Given the description of an element on the screen output the (x, y) to click on. 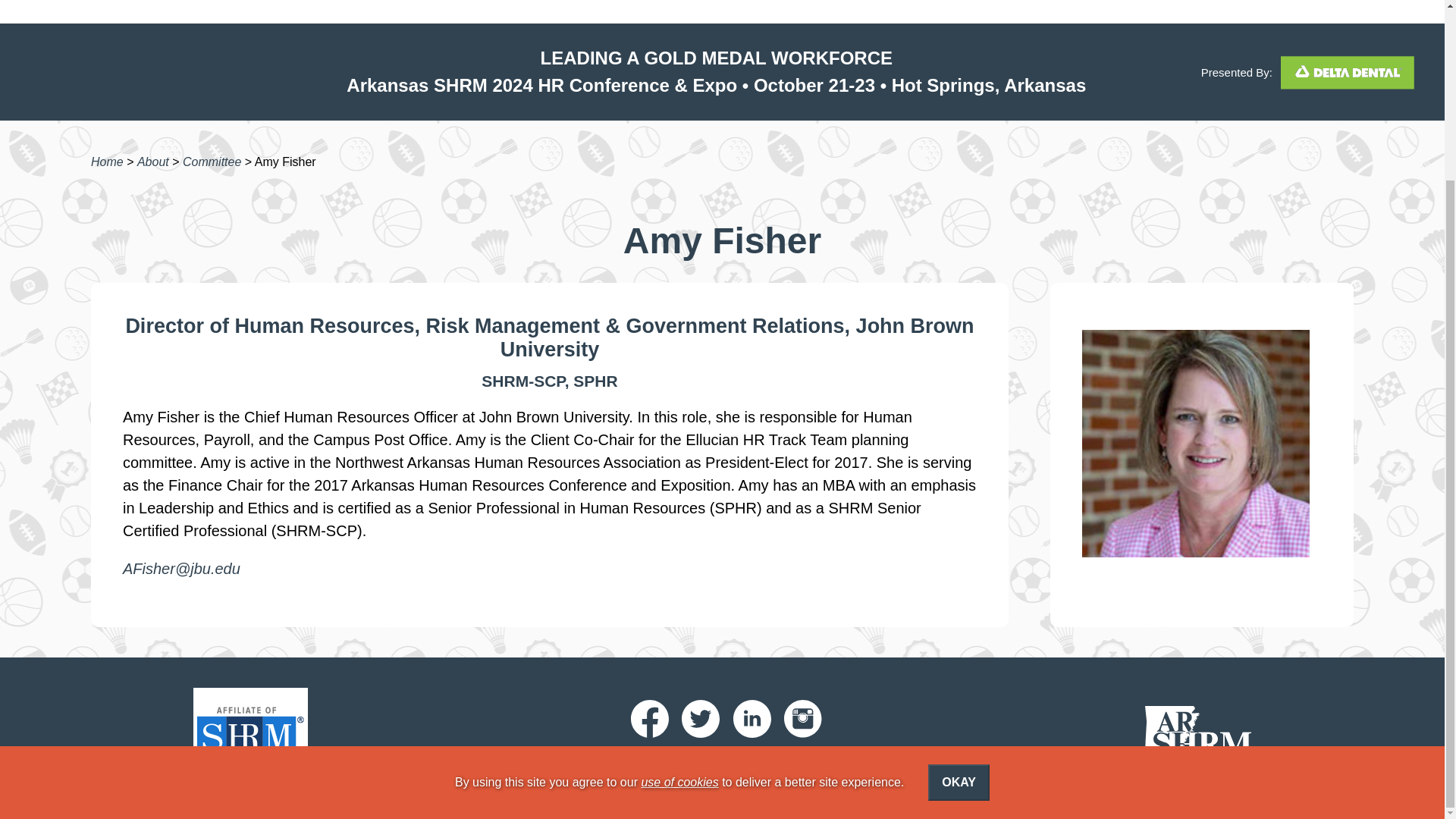
John Brown University (737, 337)
About (152, 161)
View our privacy policy (828, 762)
Home (106, 161)
Committee (212, 161)
Learn more about John Brown University (737, 337)
Learn more about Delta Dental, the HR2024 website sponsor (1342, 71)
Learn more about the Society for Human Resource Management (249, 735)
Okay (959, 560)
